Given the description of an element on the screen output the (x, y) to click on. 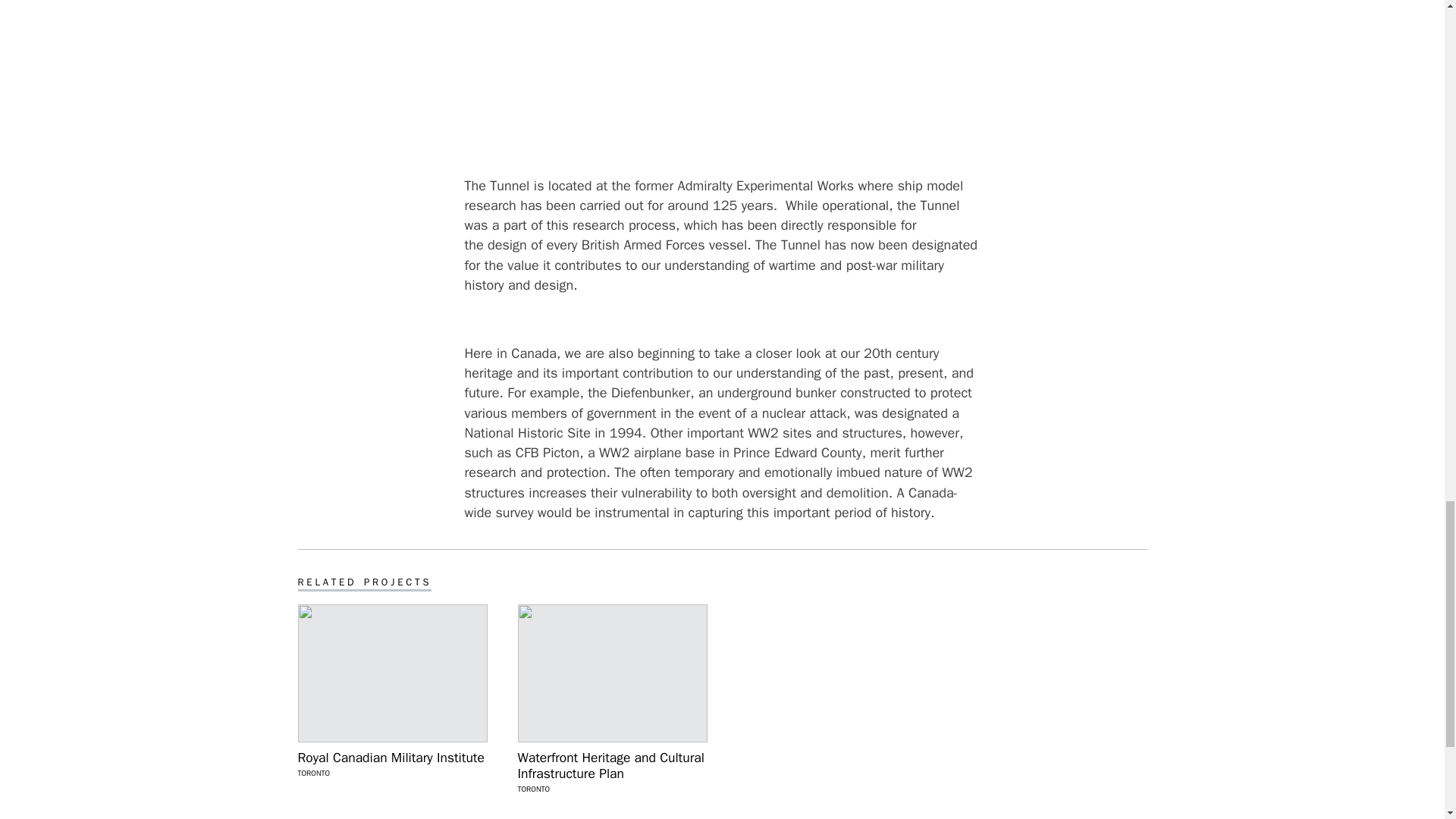
Royal Canadian Military Institute (391, 757)
Waterfront Heritage and Cultural Infrastructure Plan (611, 766)
cavitation 6 (721, 75)
